Given the description of an element on the screen output the (x, y) to click on. 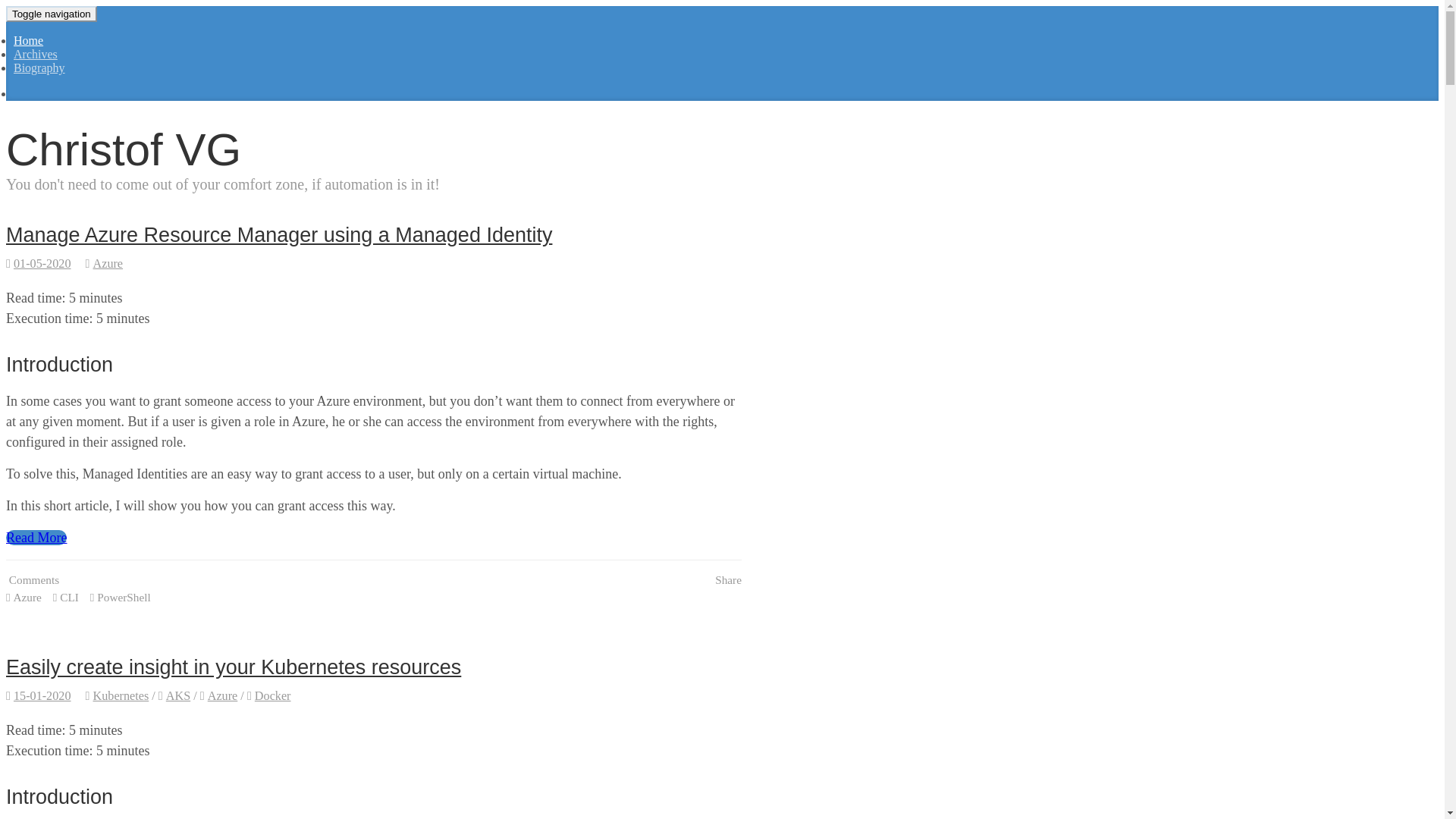
Azure Element type: text (104, 262)
AKS Element type: text (174, 695)
Comments Element type: text (32, 580)
Manage Azure Resource Manager using a Managed Identity Element type: text (279, 234)
Azure Element type: text (219, 695)
15-01-2020 Element type: text (38, 695)
CLI Element type: text (65, 596)
Easily create insight in your Kubernetes resources Element type: text (233, 666)
Kubernetes Element type: text (117, 695)
Azure Element type: text (23, 596)
RSS Feed Element type: hover (14, 93)
Biography Element type: text (39, 67)
Toggle navigation Element type: text (51, 13)
Archives Element type: text (35, 54)
PowerShell Element type: text (120, 596)
Home Element type: text (28, 40)
Share Element type: text (726, 580)
Read More Element type: text (36, 537)
01-05-2020 Element type: text (38, 262)
Docker Element type: text (269, 695)
